Given the description of an element on the screen output the (x, y) to click on. 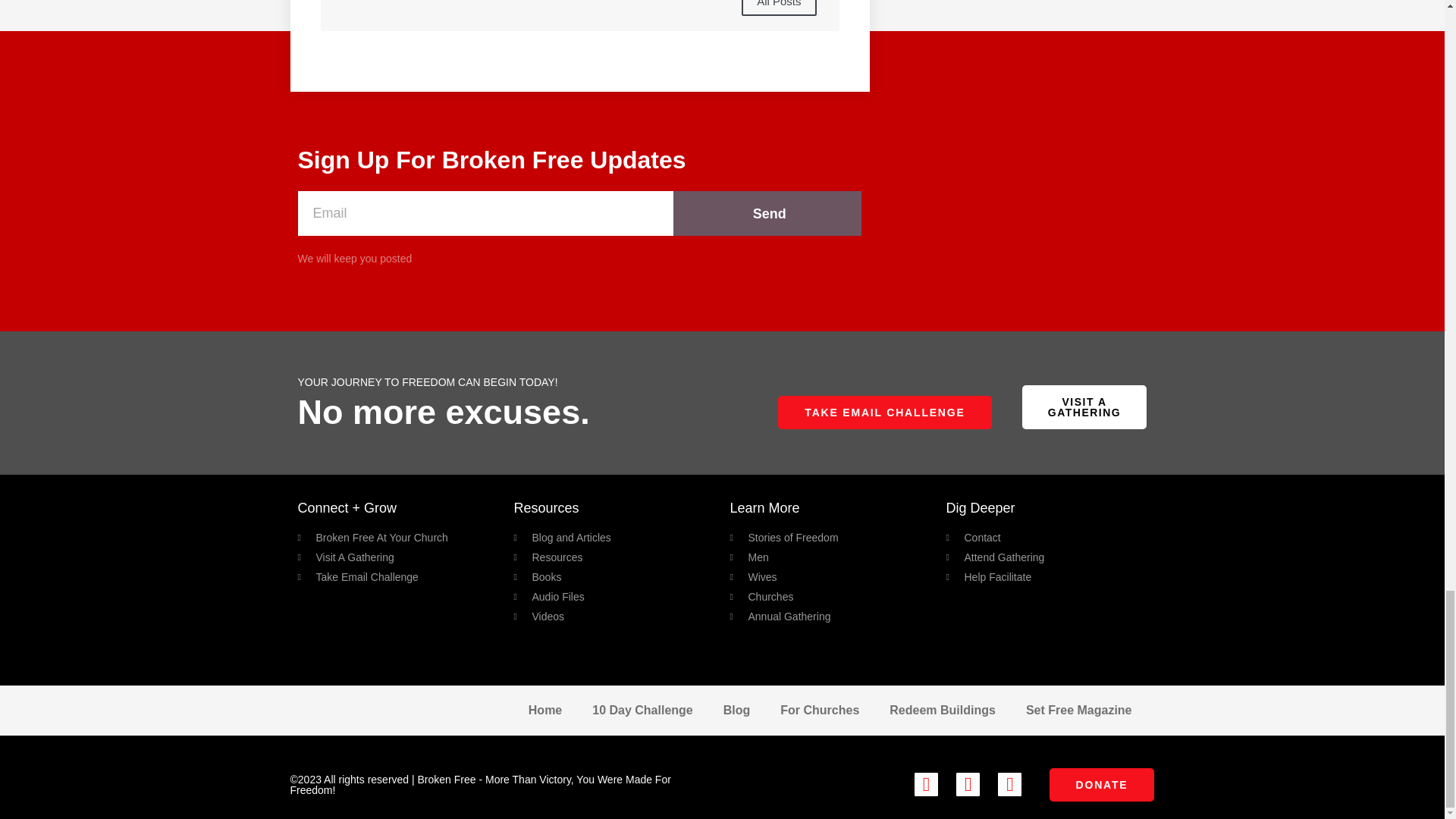
All Posts (778, 7)
